Given the description of an element on the screen output the (x, y) to click on. 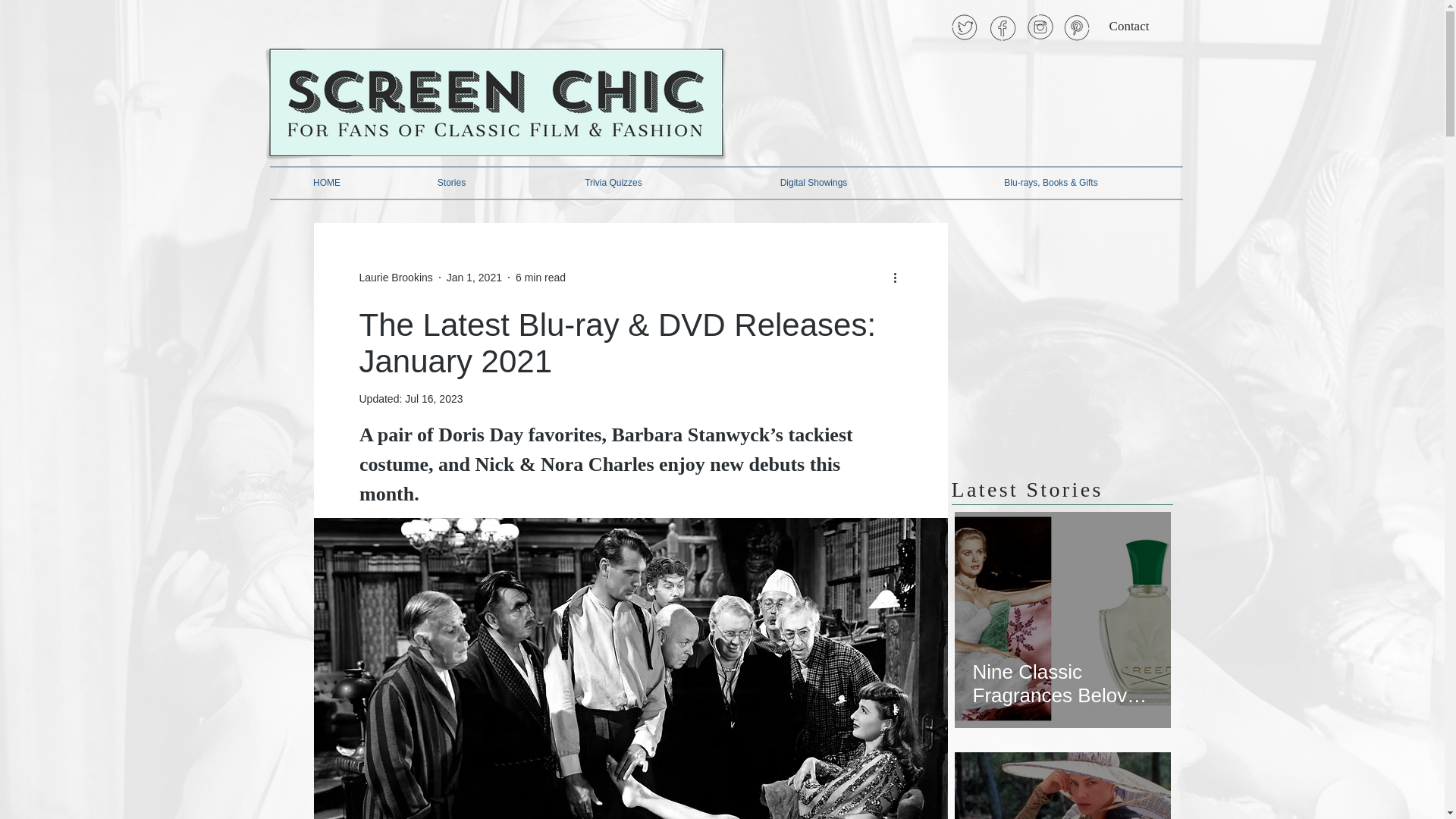
HOME (326, 183)
Digital Showings (813, 183)
Laurie Brookins (395, 277)
Jul 16, 2023 (433, 398)
Nine Classic Fragrances Beloved by Iconic Actresses (1061, 677)
Laurie Brookins (395, 277)
6 min read (540, 277)
Latest Stories (1026, 489)
Jan 1, 2021 (474, 277)
Stories (451, 183)
Contact (1128, 26)
Trivia Quizzes (612, 183)
